Given the description of an element on the screen output the (x, y) to click on. 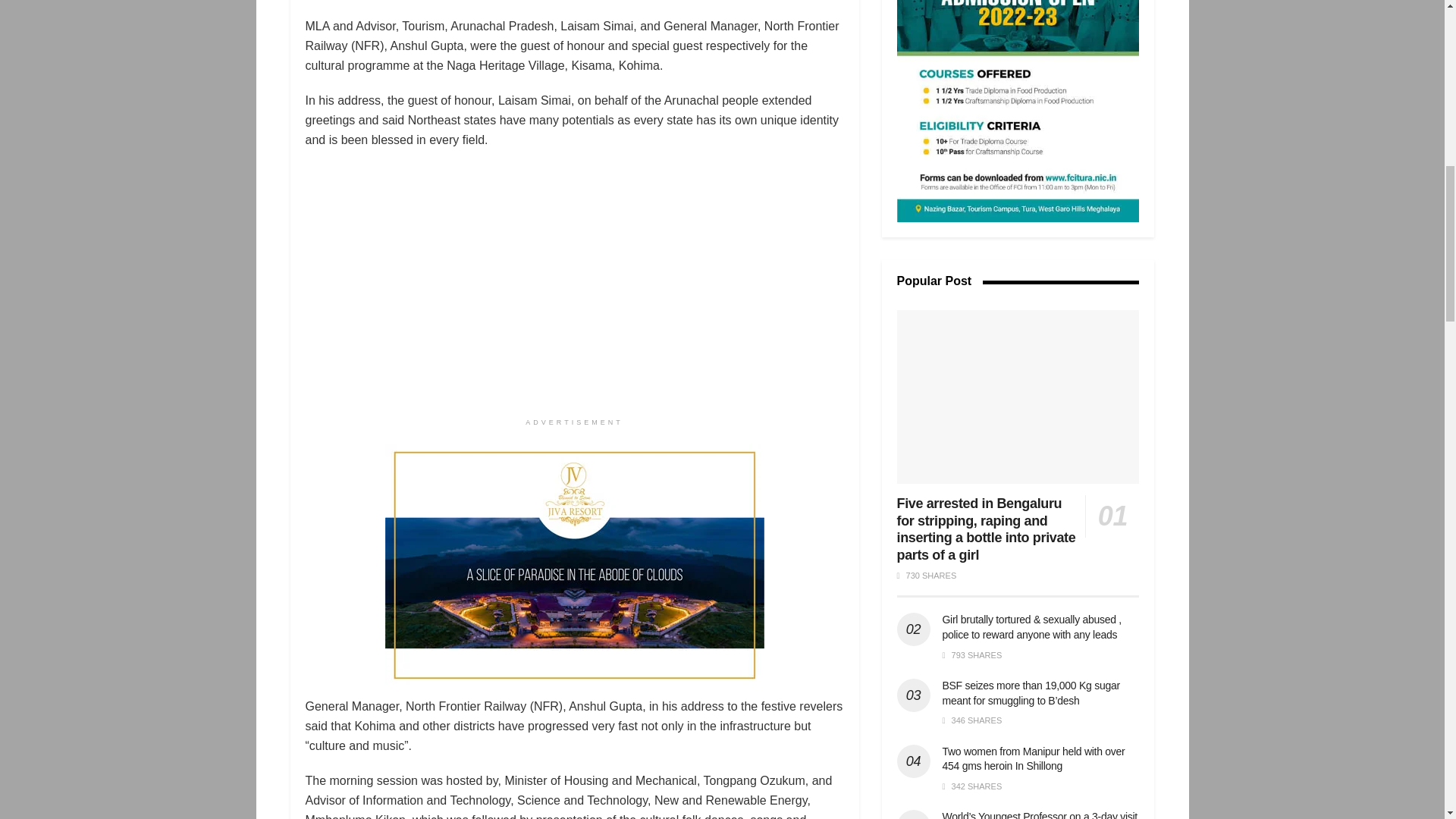
Advertisement (1017, 110)
